Given the description of an element on the screen output the (x, y) to click on. 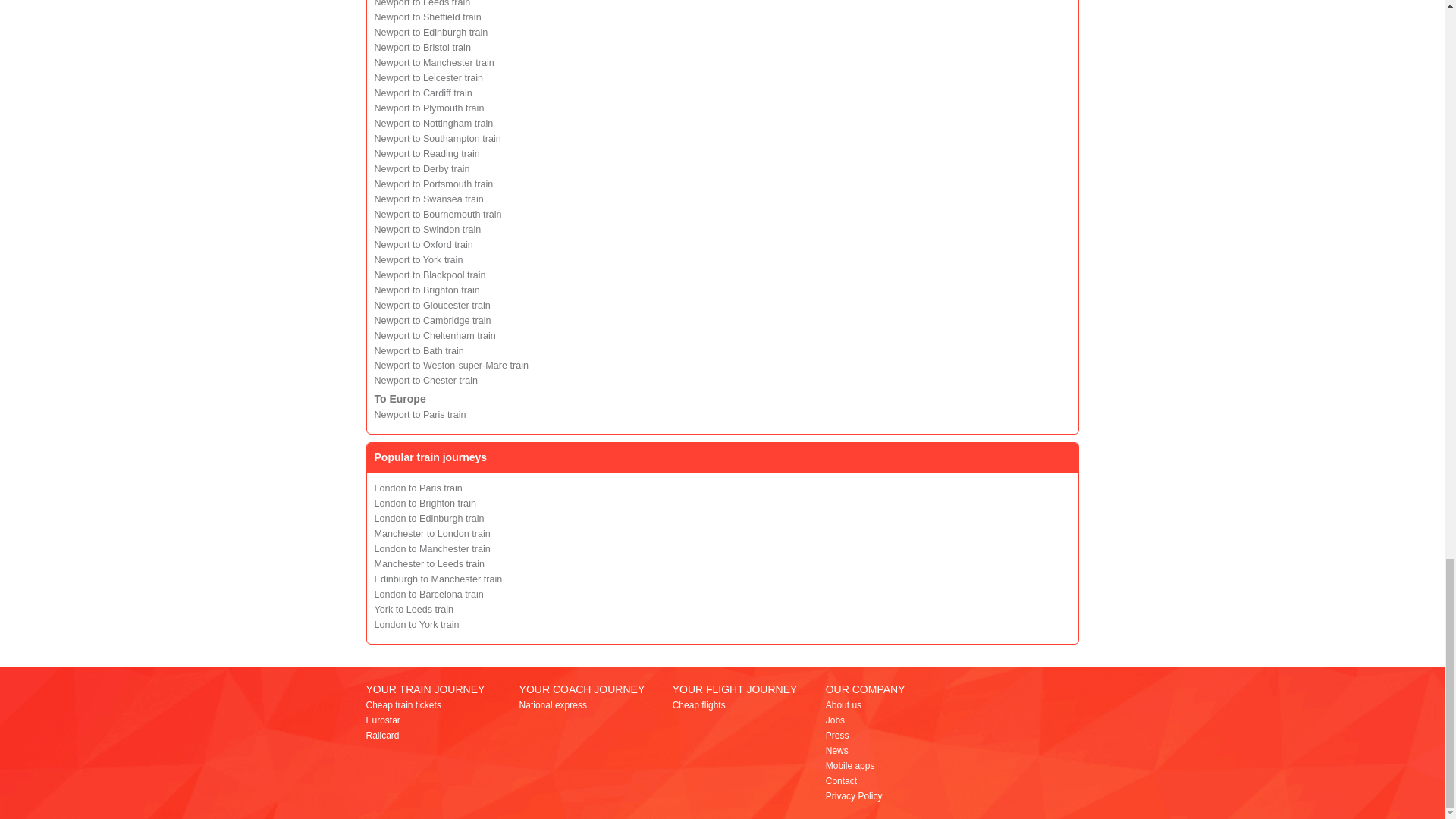
Newport to Leicester train (428, 77)
Newport to Derby train (422, 168)
Newport to Southampton train (437, 138)
Newport to Plymouth train (429, 108)
Newport to Nottingham train (433, 122)
Newport to Leeds train (422, 3)
Newport to Reading train (427, 153)
Newport to Sheffield train (427, 17)
Newport to Bristol train (422, 47)
Newport to Portsmouth train (433, 184)
Newport to Cardiff train (422, 92)
Newport to Edinburgh train (430, 32)
Newport to Manchester train (434, 62)
